Given the description of an element on the screen output the (x, y) to click on. 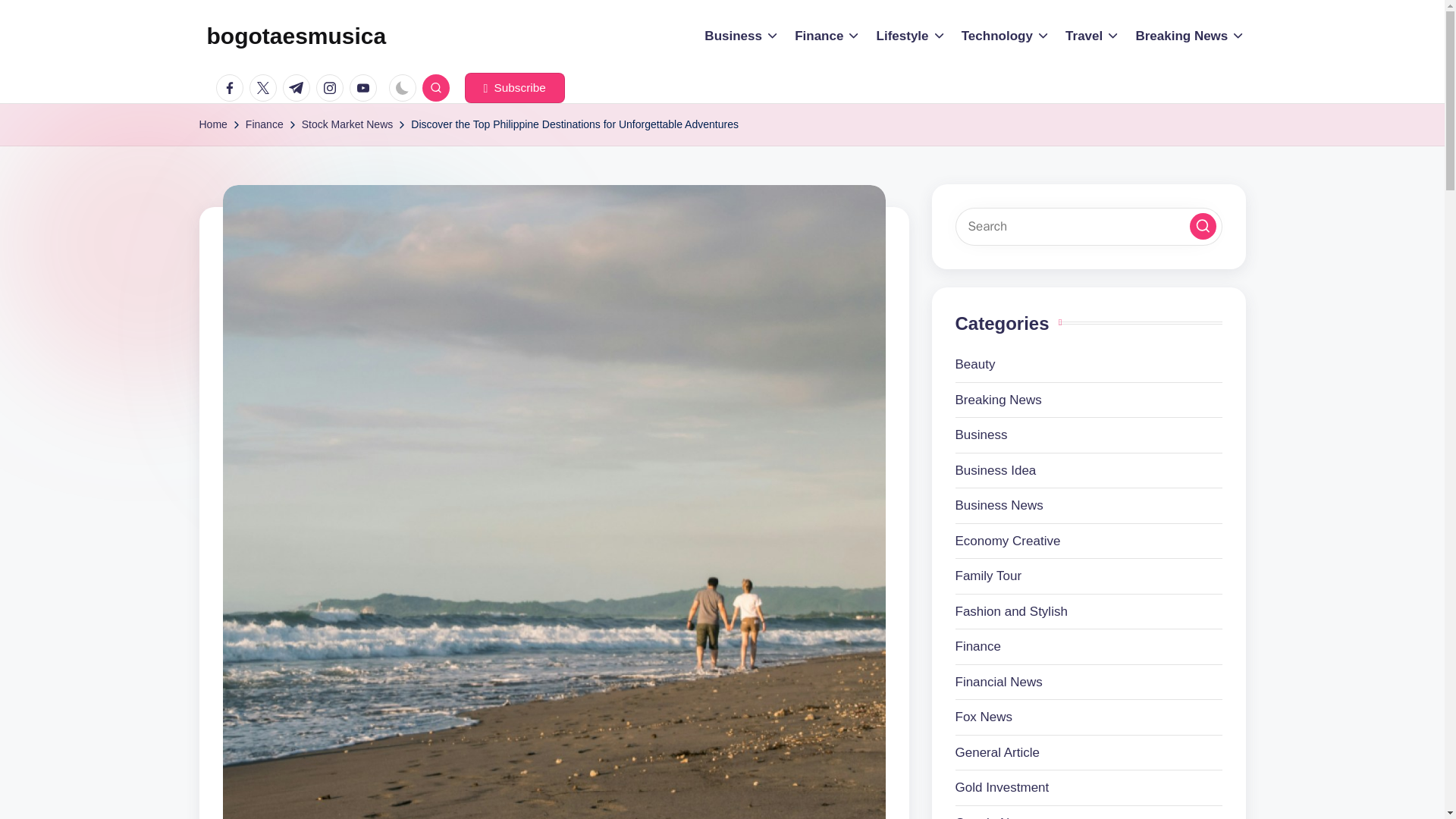
Finance (827, 36)
bogotaesmusica (295, 36)
Business (741, 36)
Lifestyle (911, 36)
Technology (1004, 36)
Travel (1092, 36)
Breaking News (1189, 36)
